Given the description of an element on the screen output the (x, y) to click on. 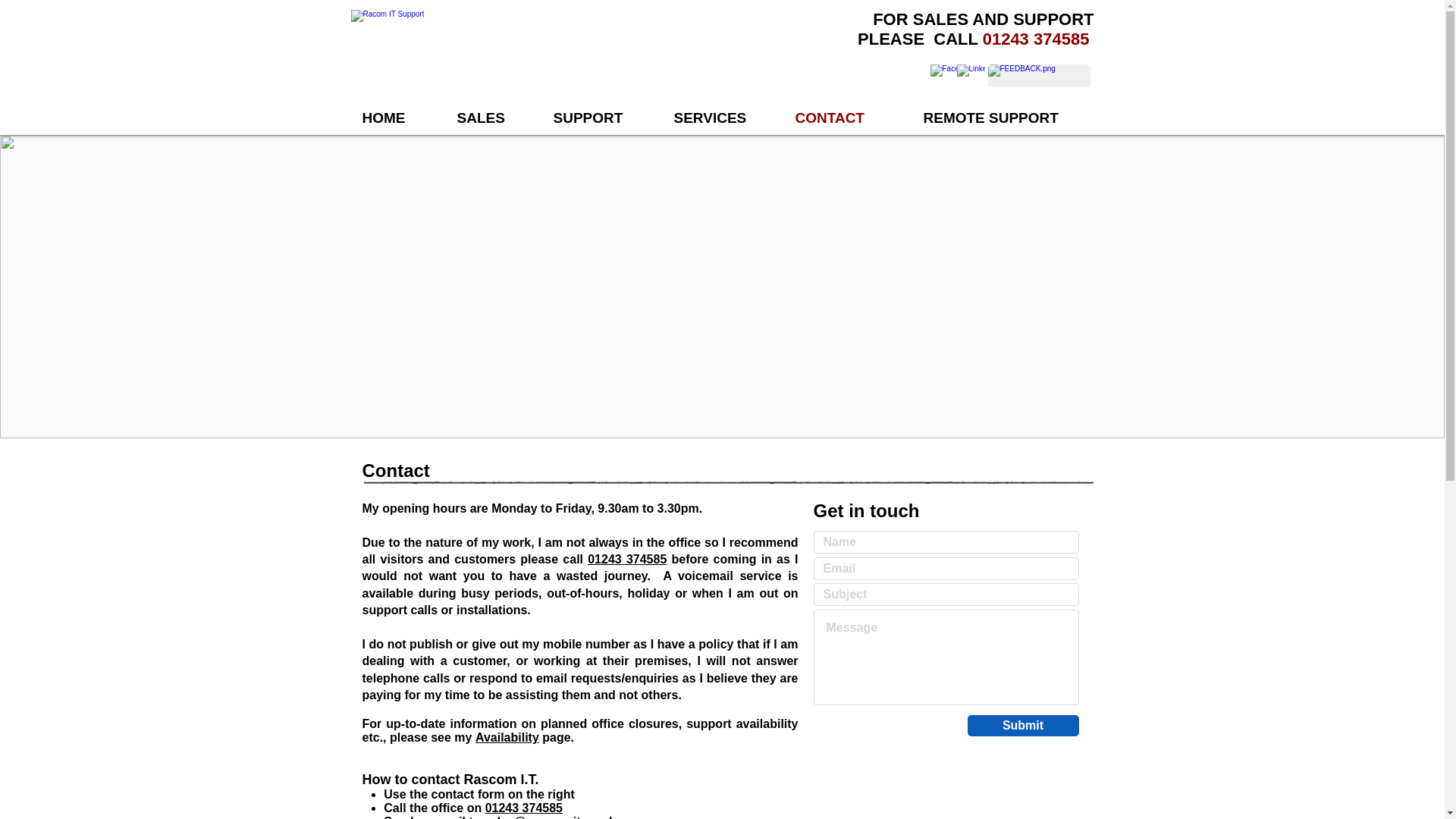
CONTACT (848, 117)
REMOTE SUPPORT (1002, 117)
SUPPORT (601, 117)
01243 374585  (1038, 38)
SALES (493, 117)
01243 374585 (627, 558)
SERVICES (723, 117)
HOME (397, 117)
Availability (507, 737)
01243 374585 (523, 807)
